Given the description of an element on the screen output the (x, y) to click on. 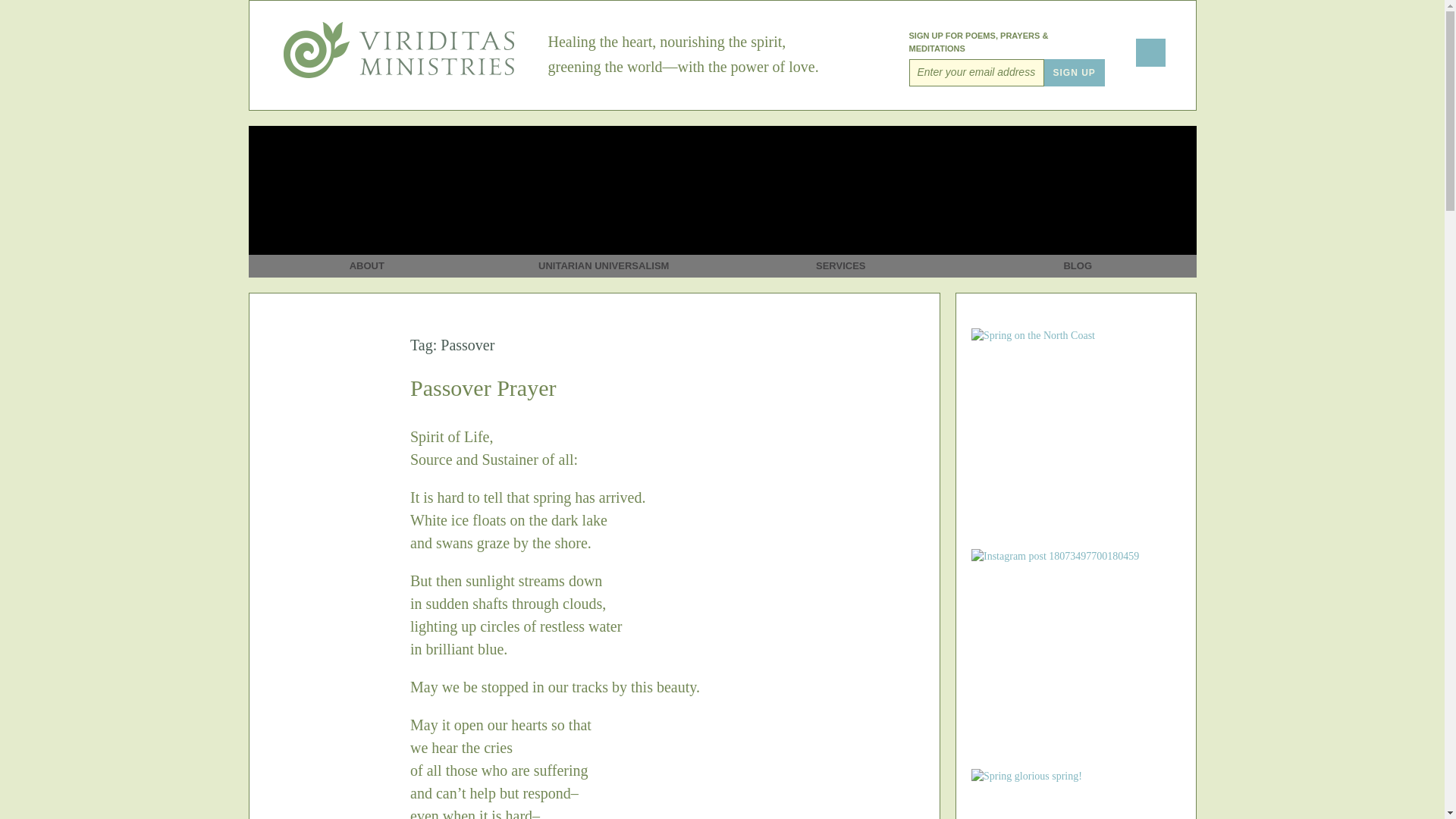
ABOUT (367, 201)
Passover Prayer (483, 387)
Sign Up (1073, 72)
SERVICES (840, 201)
Enter your email address (975, 72)
UNITARIAN UNIVERSALISM (603, 201)
Sign Up (1073, 72)
BLOG (1077, 201)
